Given the description of an element on the screen output the (x, y) to click on. 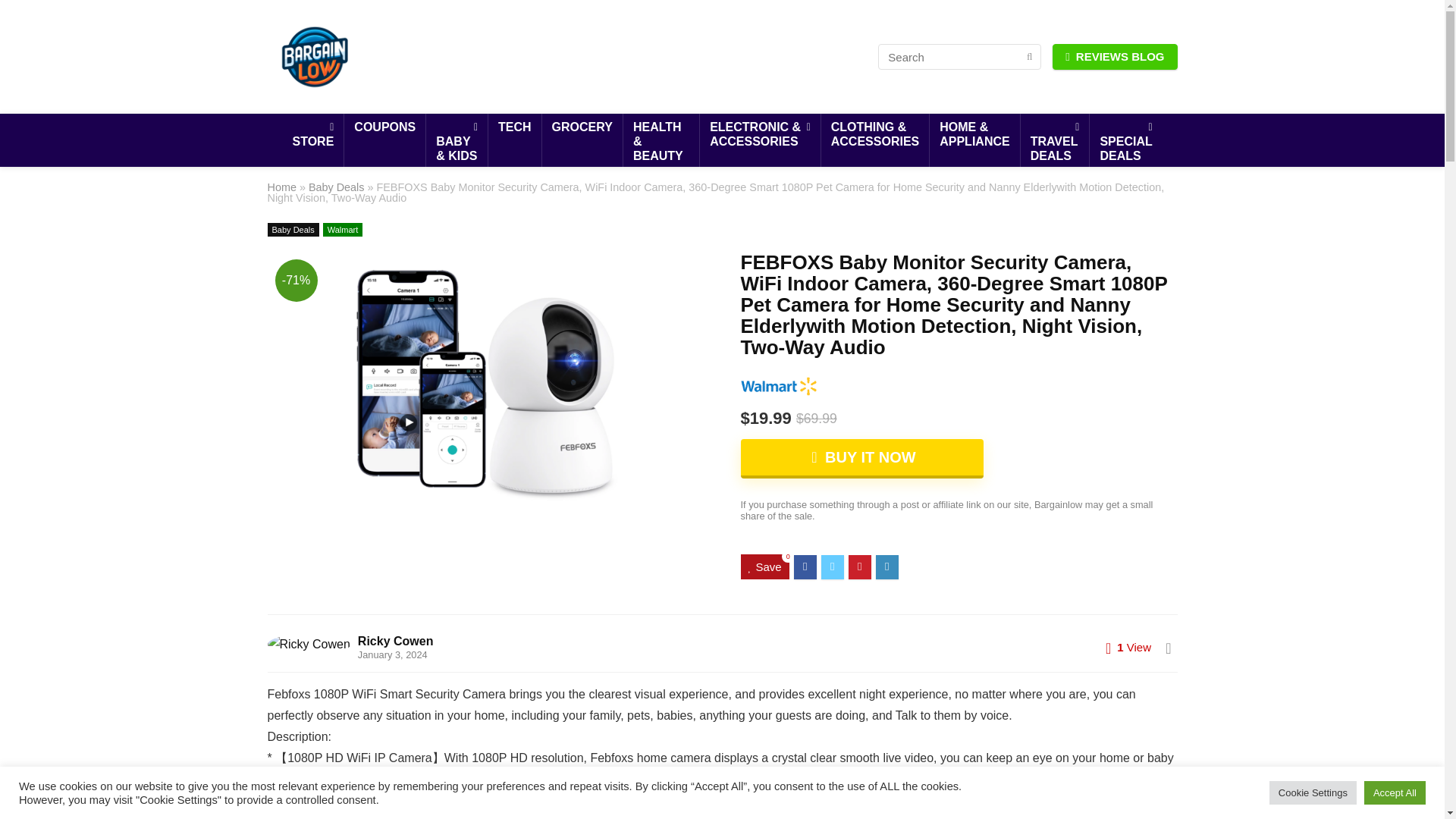
SPECIAL DEALS (1125, 142)
TECH (514, 127)
STORE (312, 135)
View all posts in Baby Deals (292, 229)
REVIEWS BLOG (1114, 56)
TRAVEL DEALS (1054, 142)
View all posts in Walmart (342, 229)
COUPONS (384, 127)
GROCERY (582, 127)
